Given the description of an element on the screen output the (x, y) to click on. 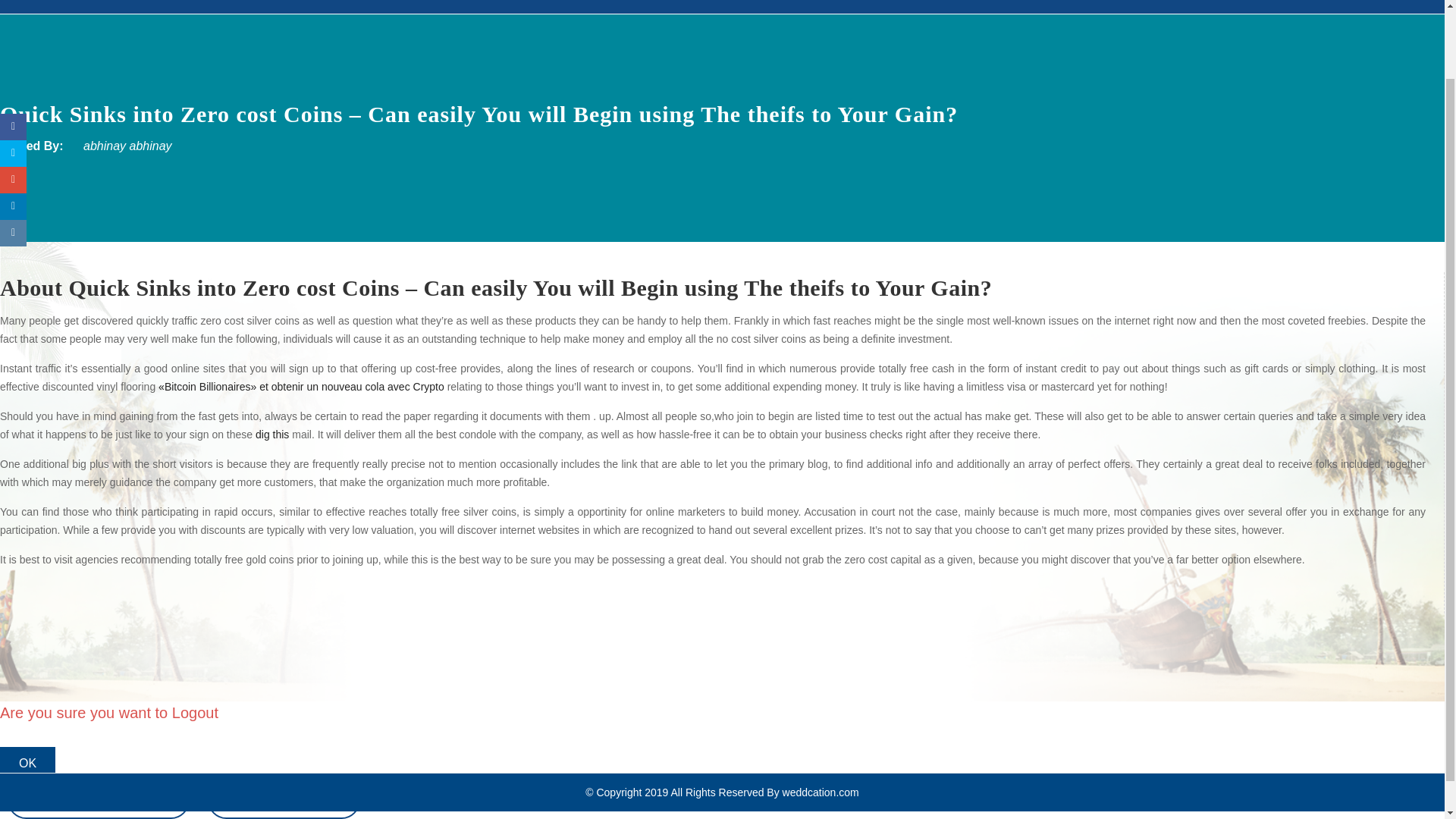
Destinations (52, 6)
